Given the description of an element on the screen output the (x, y) to click on. 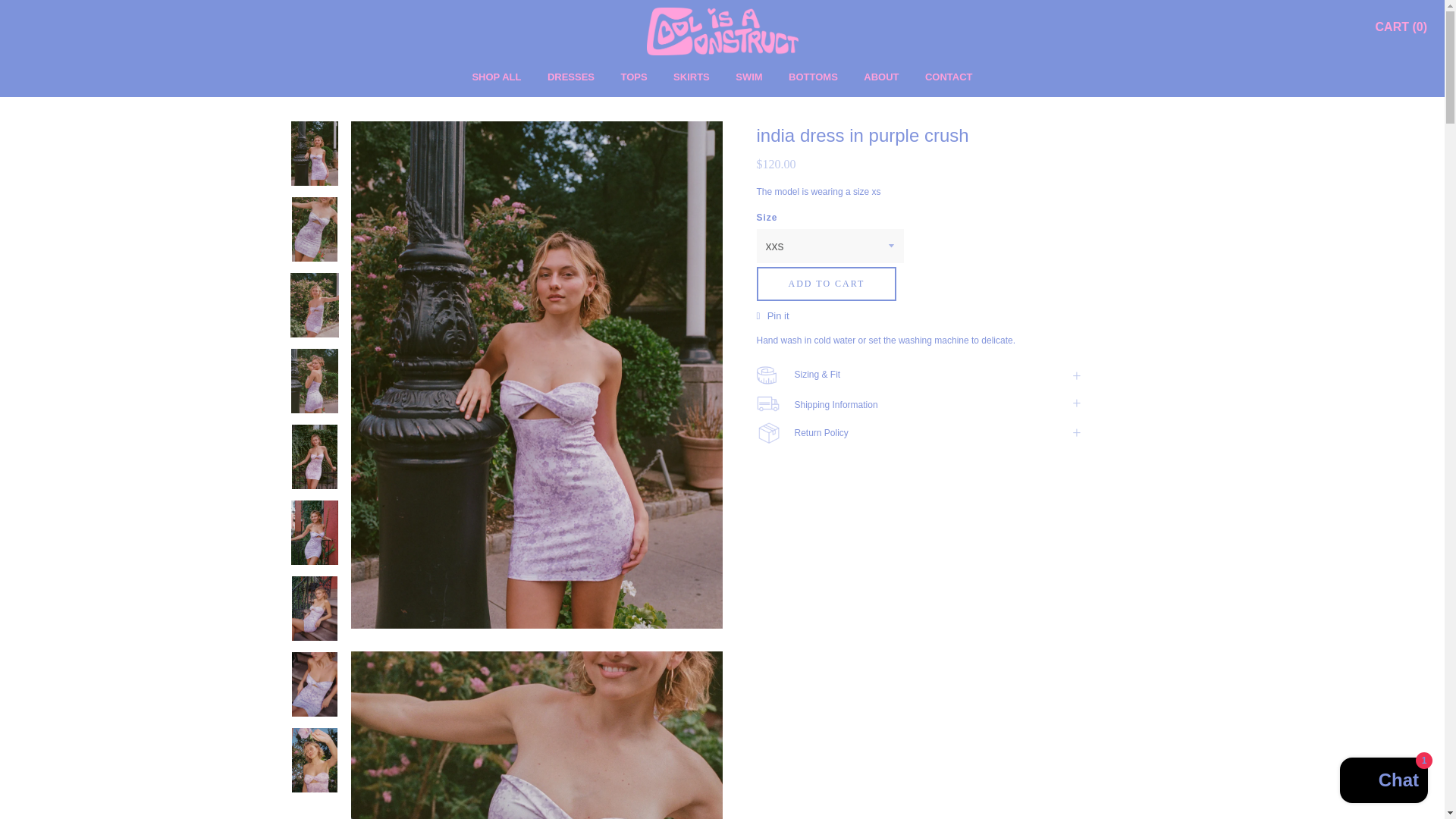
CONTACT (948, 77)
ABOUT (880, 77)
Shopify online store chat (1383, 781)
DRESSES (571, 77)
TOPS (632, 77)
Pin on Pinterest (772, 315)
BOTTOMS (812, 77)
SKIRTS (691, 77)
SWIM (749, 77)
SHOP ALL (496, 77)
